Given the description of an element on the screen output the (x, y) to click on. 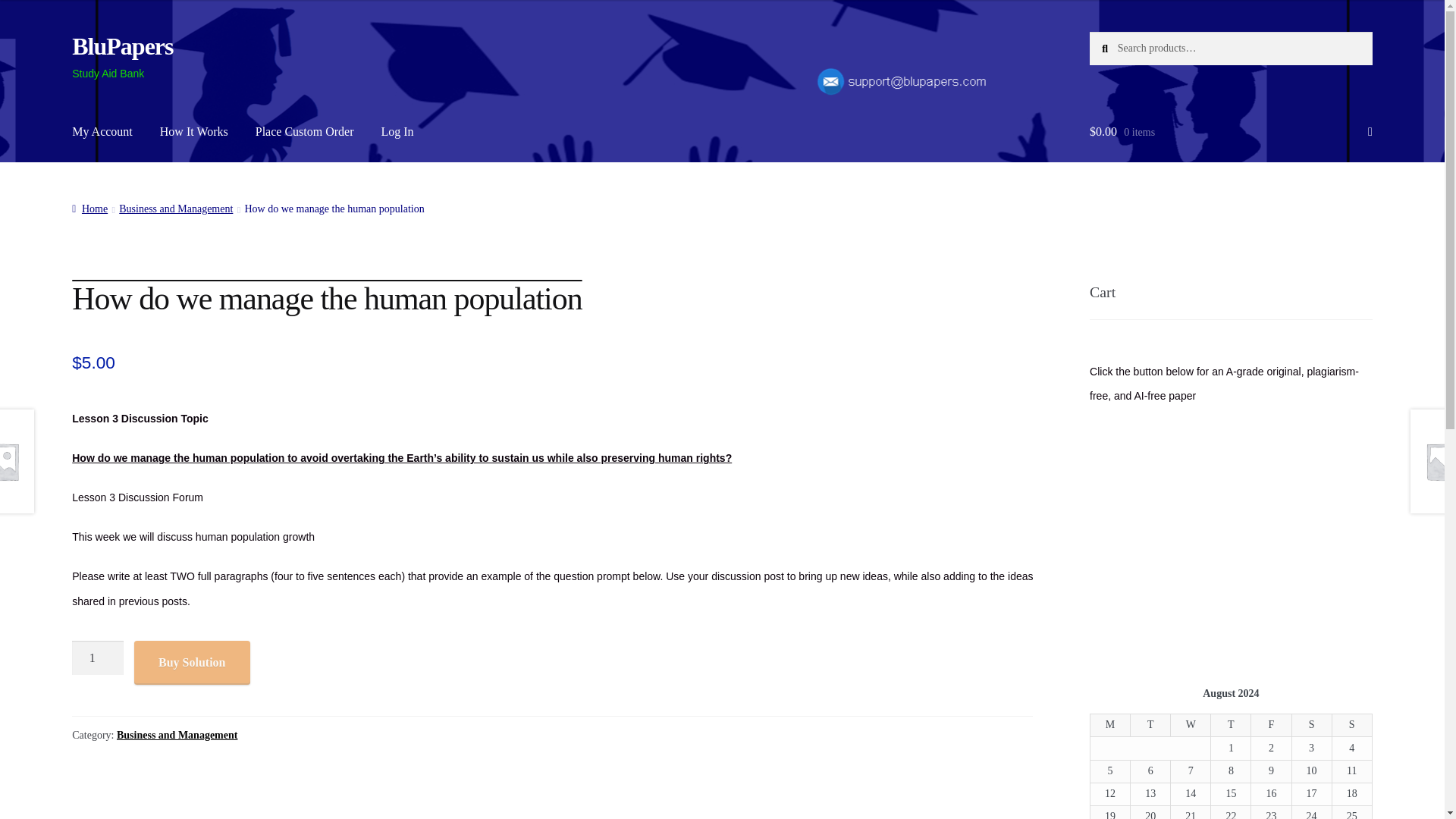
Wednesday (1190, 725)
Saturday (1311, 725)
View your shopping cart (1231, 132)
Log In (397, 132)
Tuesday (1150, 725)
BluPapers (122, 45)
1 (97, 657)
Buy Solution (190, 662)
Place Custom Order (304, 132)
Business and Management (176, 735)
